Given the description of an element on the screen output the (x, y) to click on. 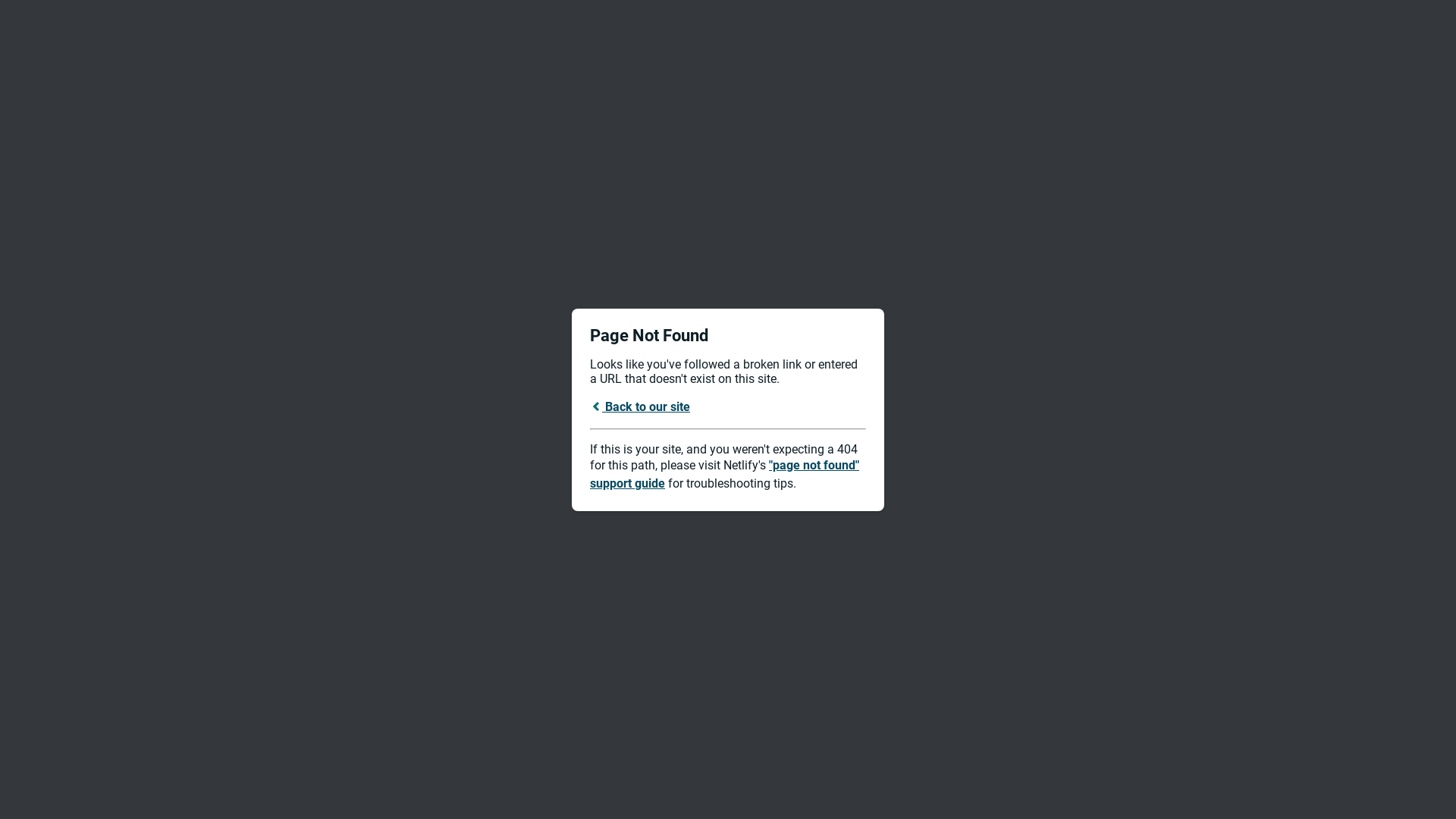
Back to our site Element type: text (639, 405)
"page not found" support guide Element type: text (724, 474)
